Given the description of an element on the screen output the (x, y) to click on. 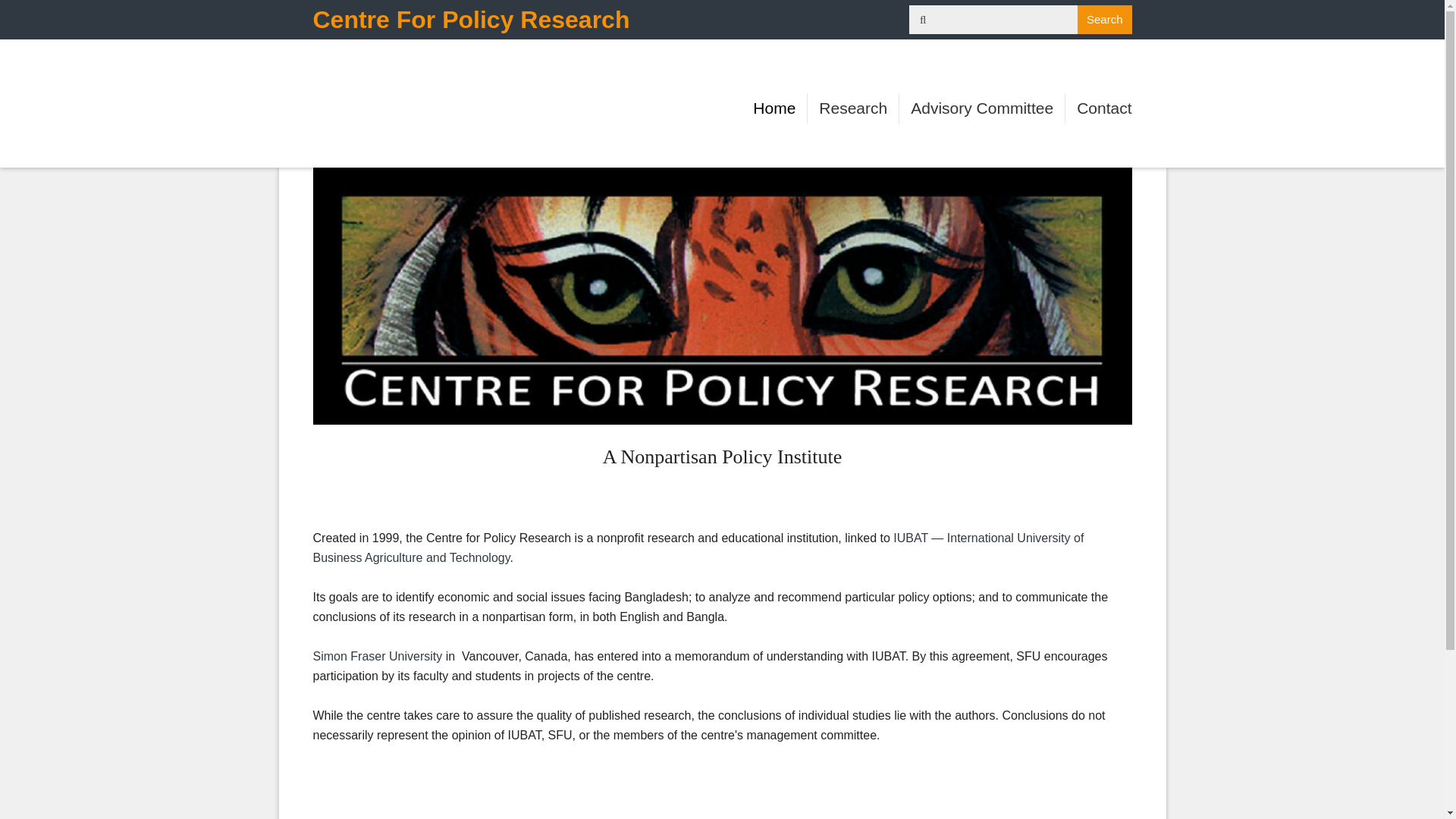
Advisory Committee (981, 108)
Search (1104, 19)
Research (852, 108)
Simon Fraser University (377, 656)
Home (773, 108)
Search (1104, 19)
Contact (1103, 108)
Search (1104, 19)
